Given the description of an element on the screen output the (x, y) to click on. 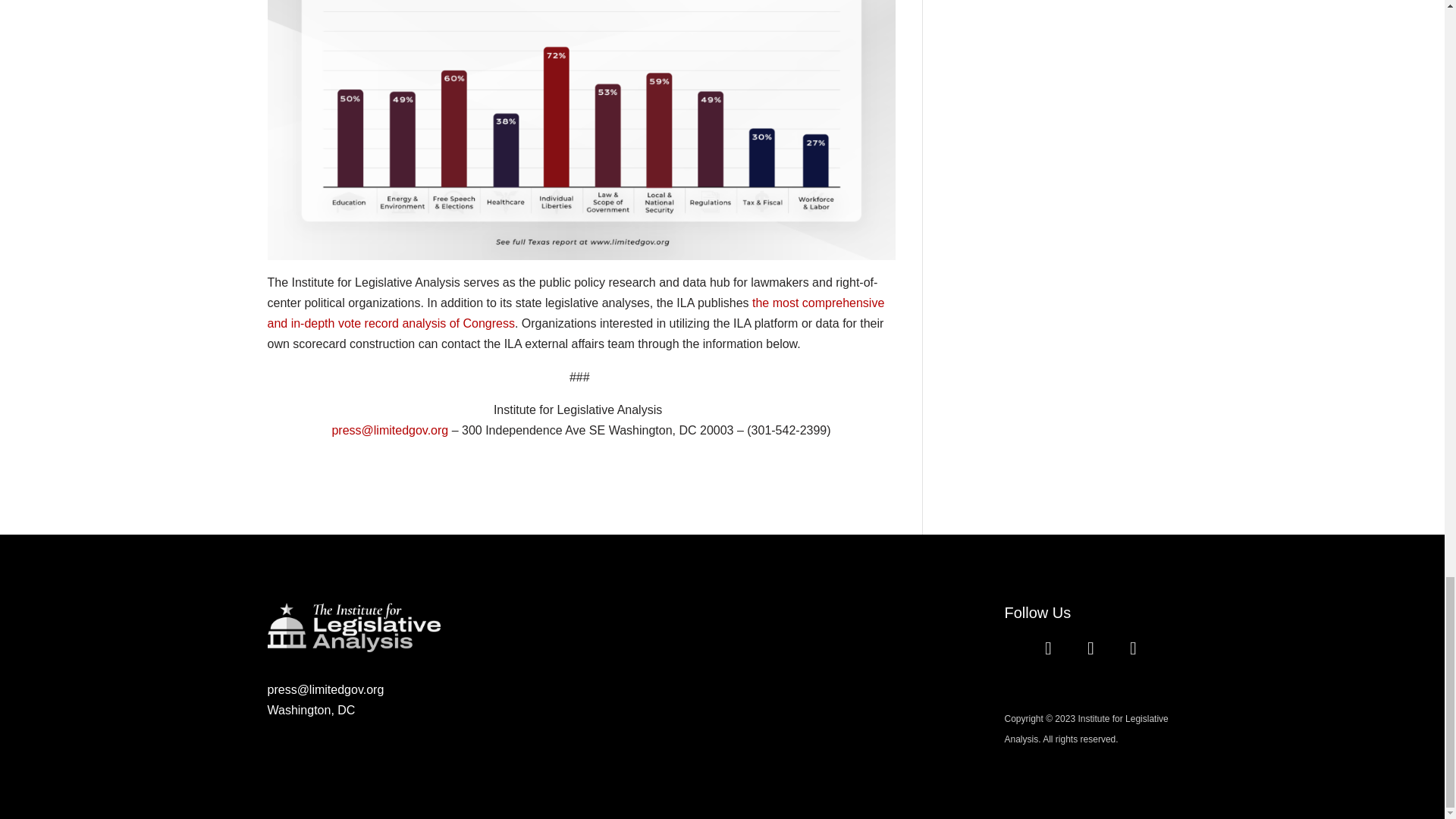
ila-logo-light-052223 (352, 626)
Follow on Facebook (1047, 647)
Follow on X (1089, 647)
Follow on LinkedIn (1133, 647)
